Given the description of an element on the screen output the (x, y) to click on. 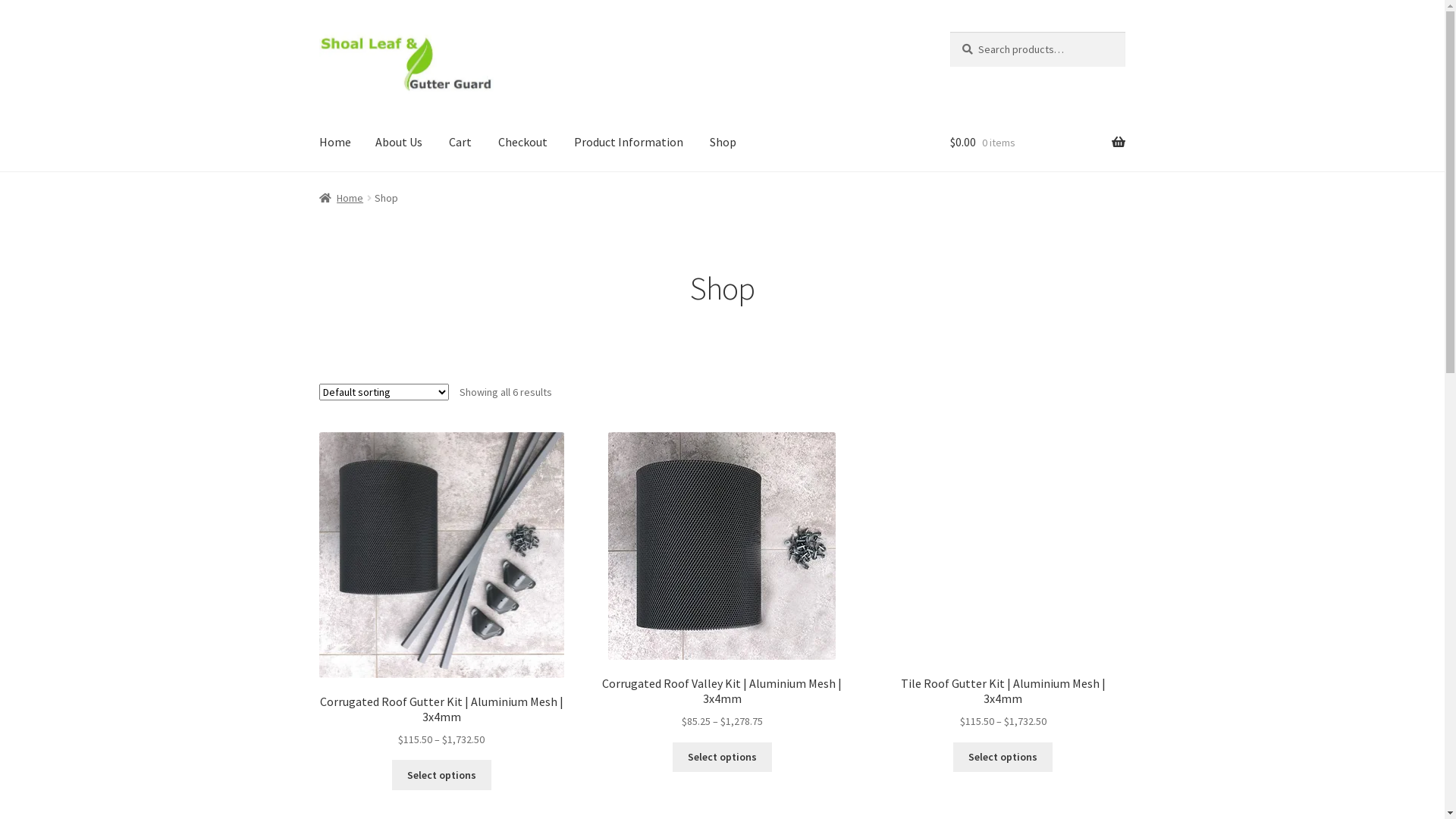
Select options Element type: text (721, 757)
Skip to navigation Element type: text (318, 31)
About Us Element type: text (398, 142)
Product Information Element type: text (628, 142)
Select options Element type: text (441, 774)
Checkout Element type: text (522, 142)
Home Element type: text (341, 197)
Home Element type: text (335, 142)
$0.00 0 items Element type: text (1037, 142)
Select options Element type: text (1002, 757)
Cart Element type: text (459, 142)
Search Element type: text (949, 31)
Shop Element type: text (722, 142)
